Given the description of an element on the screen output the (x, y) to click on. 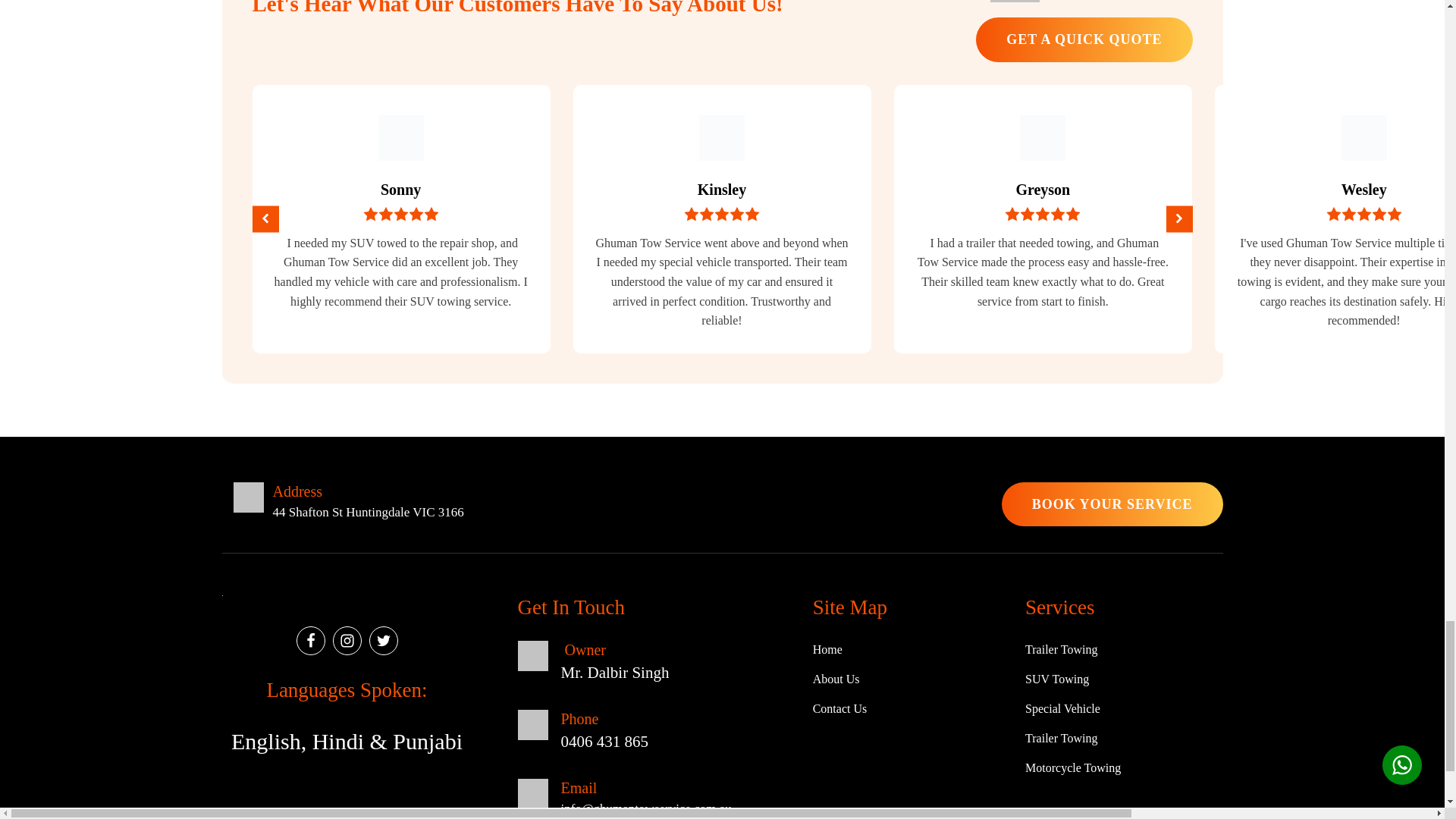
BOOK YOUR SERVICE (1112, 504)
GET A QUICK QUOTE (1083, 39)
0406 431 865 (1121, 1)
44 Shafton St Huntingdale VIC 3166 (368, 512)
